Given the description of an element on the screen output the (x, y) to click on. 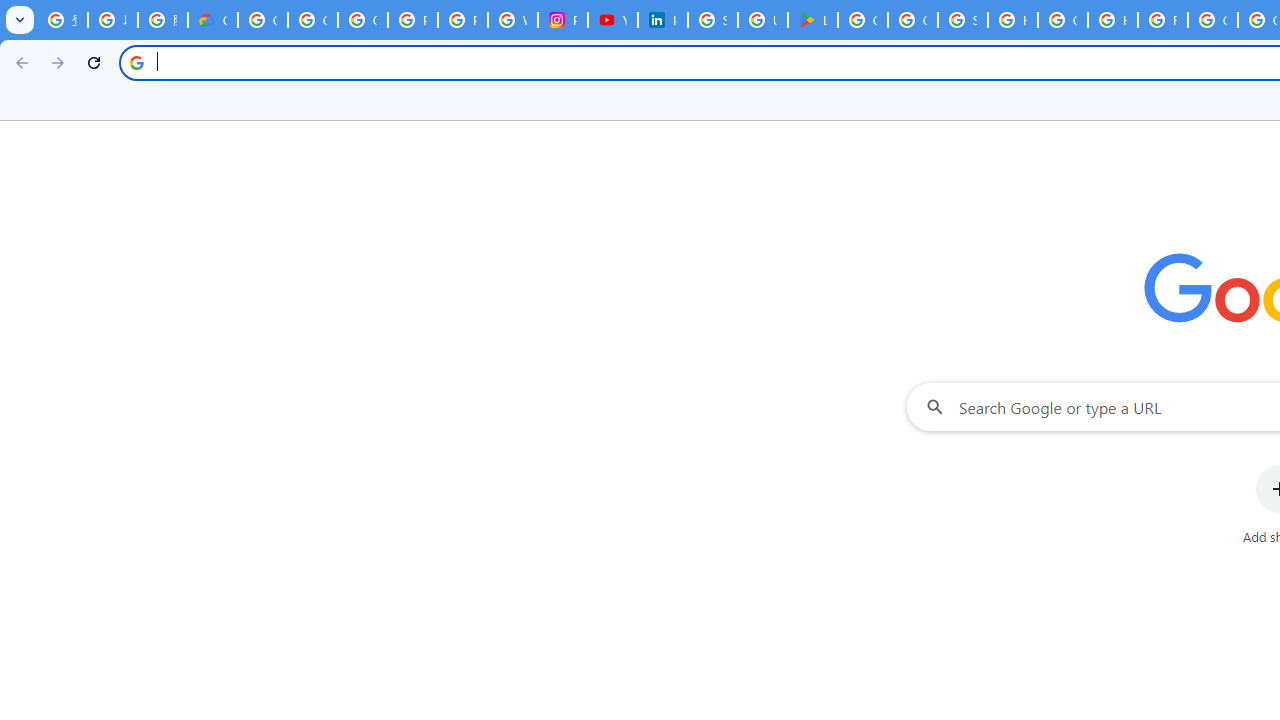
Last Shelter: Survival - Apps on Google Play (813, 20)
Sign in - Google Accounts (712, 20)
How do I create a new Google Account? - Google Account Help (1112, 20)
Google Workspace - Specific Terms (913, 20)
